Given the description of an element on the screen output the (x, y) to click on. 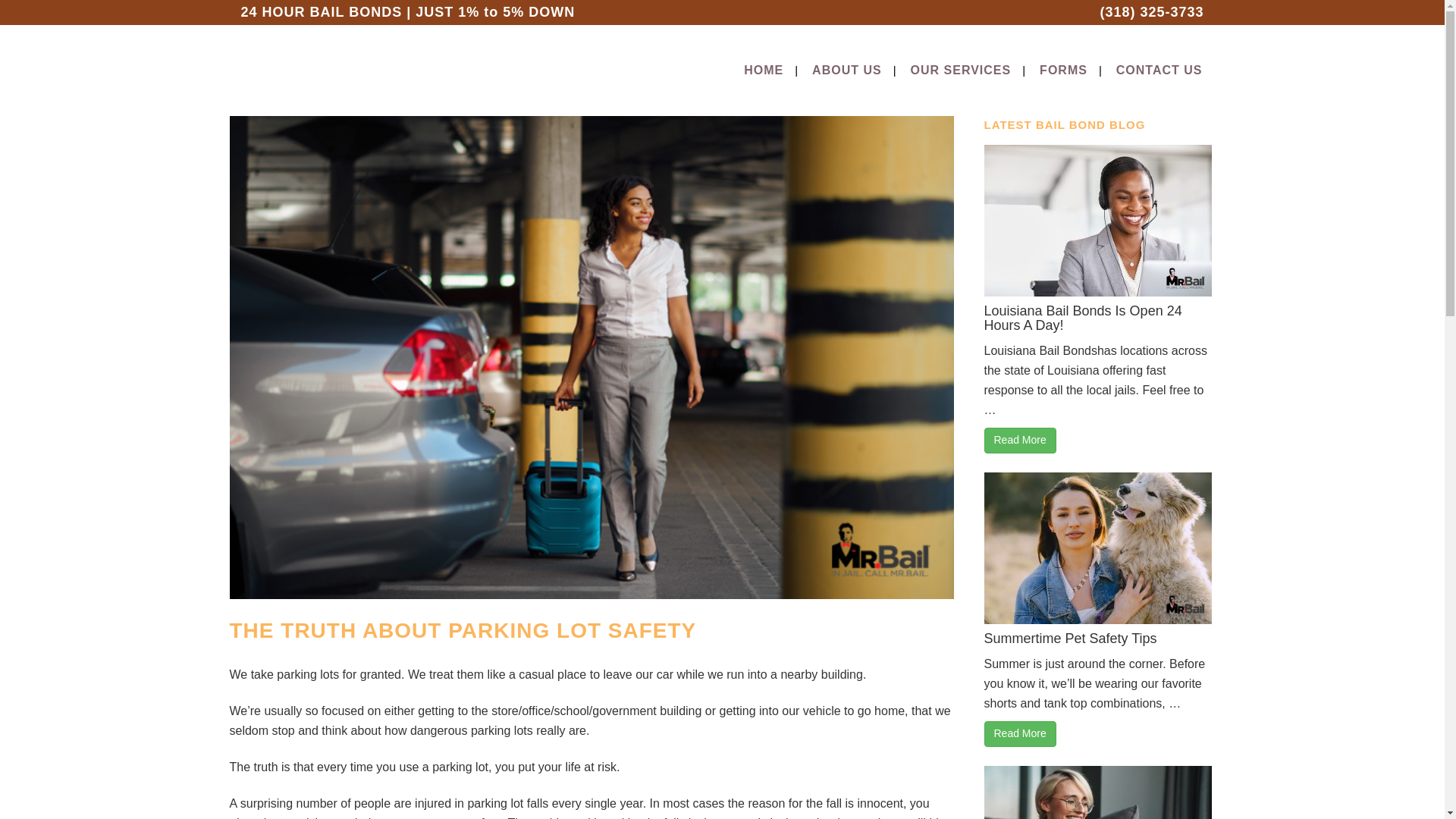
Louisiana Bail Bonds Is Open 24 Hours A Day! (1083, 318)
Read More (1020, 733)
Summertime Pet Safety Tips (1070, 638)
CONTACT US (1159, 70)
Read More (1020, 440)
OUR SERVICES (961, 70)
ABOUT US (847, 70)
